Given the description of an element on the screen output the (x, y) to click on. 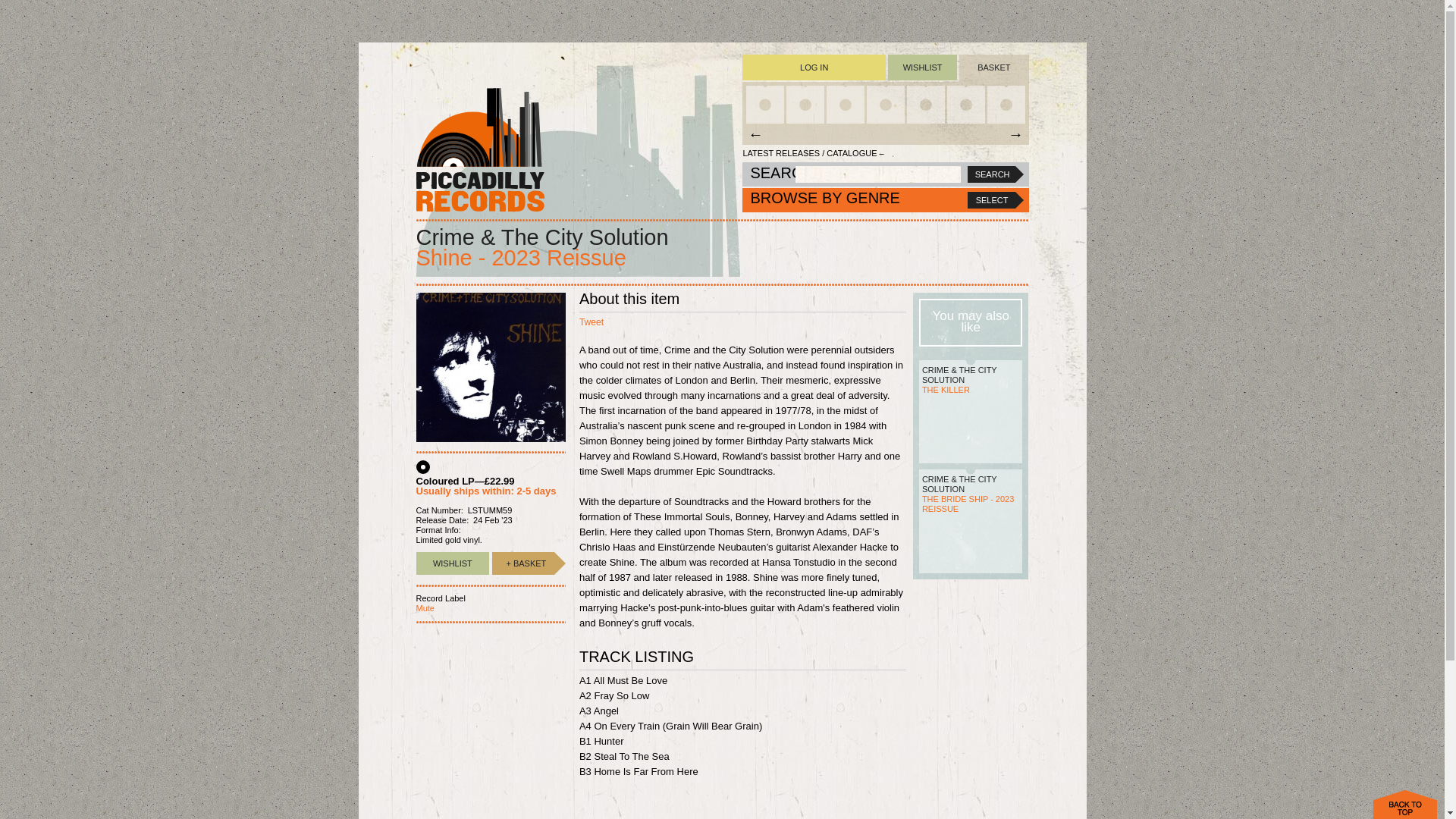
Usually ships within: 2-5 days (485, 490)
Mute (423, 607)
Tweet (591, 321)
Search for other items on Mute (423, 607)
Piccadilly Records (478, 149)
WISHLIST (451, 563)
Item usually despatched within 2-5 days (523, 563)
